Given the description of an element on the screen output the (x, y) to click on. 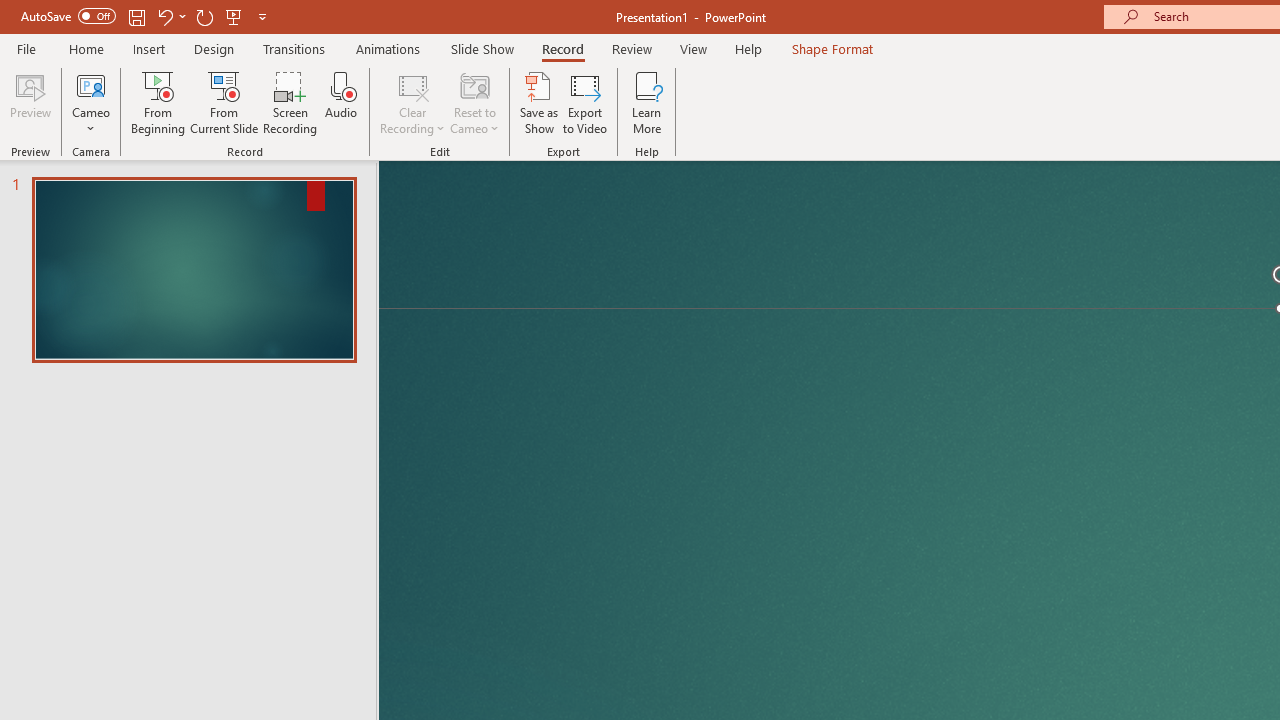
Cameo (91, 84)
Save as Show (539, 102)
Slide (194, 269)
From Beginning... (158, 102)
Reset to Cameo (474, 102)
